Given the description of an element on the screen output the (x, y) to click on. 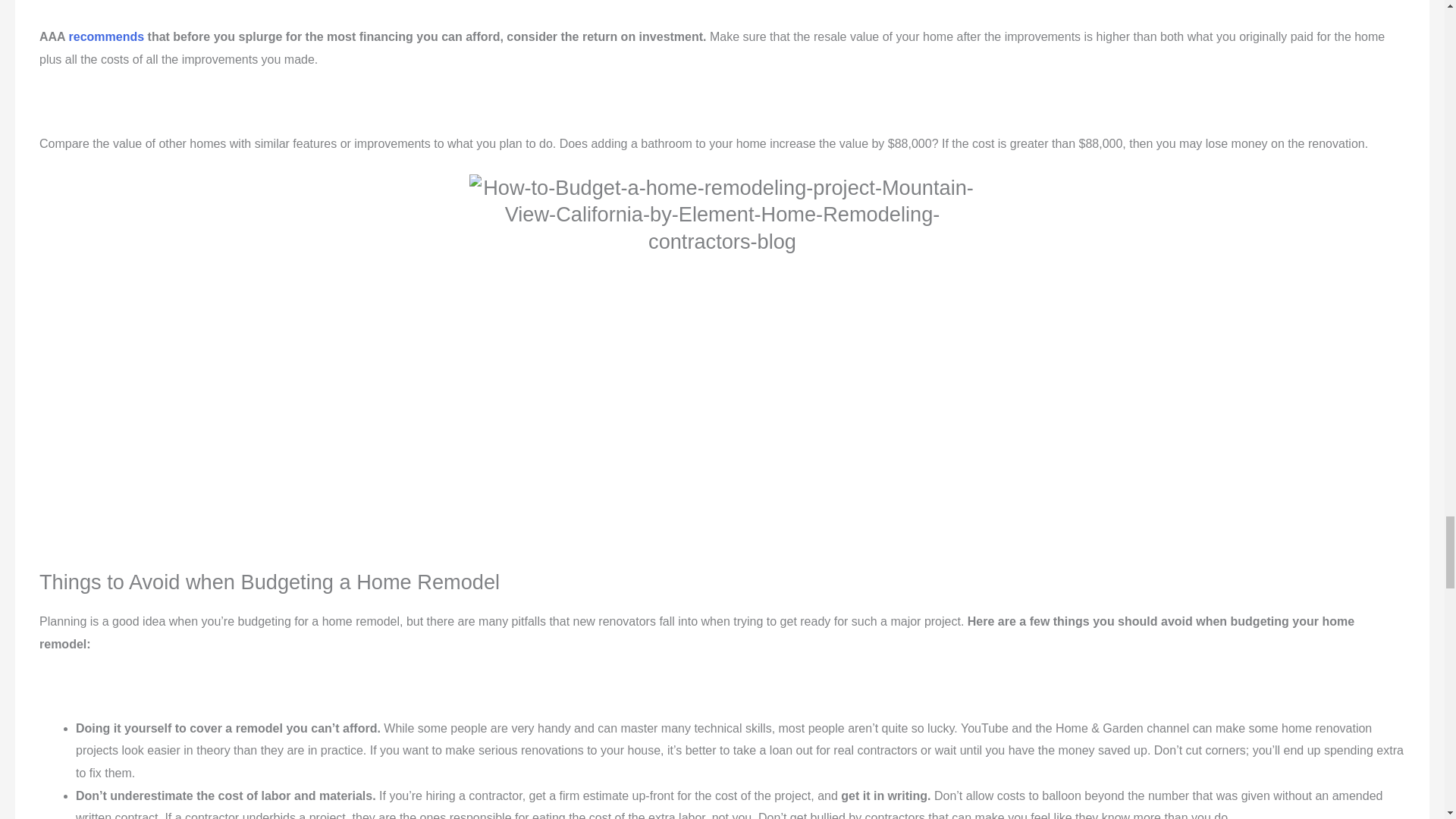
recommends (106, 36)
